Given the description of an element on the screen output the (x, y) to click on. 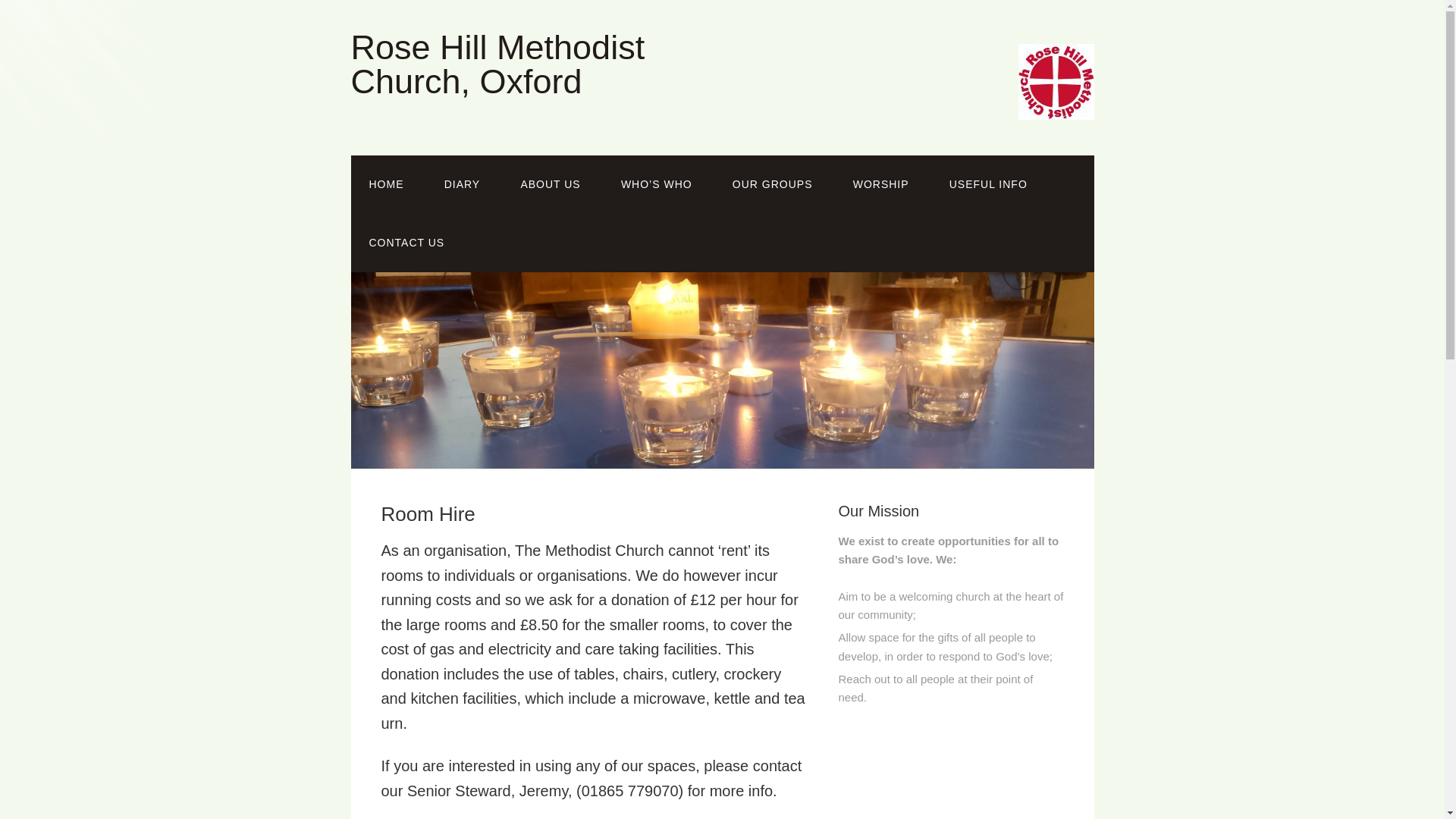
Rose Hill Methodist Church, Oxford (497, 63)
USEFUL INFO (988, 184)
OUR GROUPS (772, 184)
CONTACT US (406, 242)
Rose Hill Methodist Church, Oxford (497, 63)
ABOUT US (550, 184)
DIARY (462, 184)
WORSHIP (880, 184)
